Given the description of an element on the screen output the (x, y) to click on. 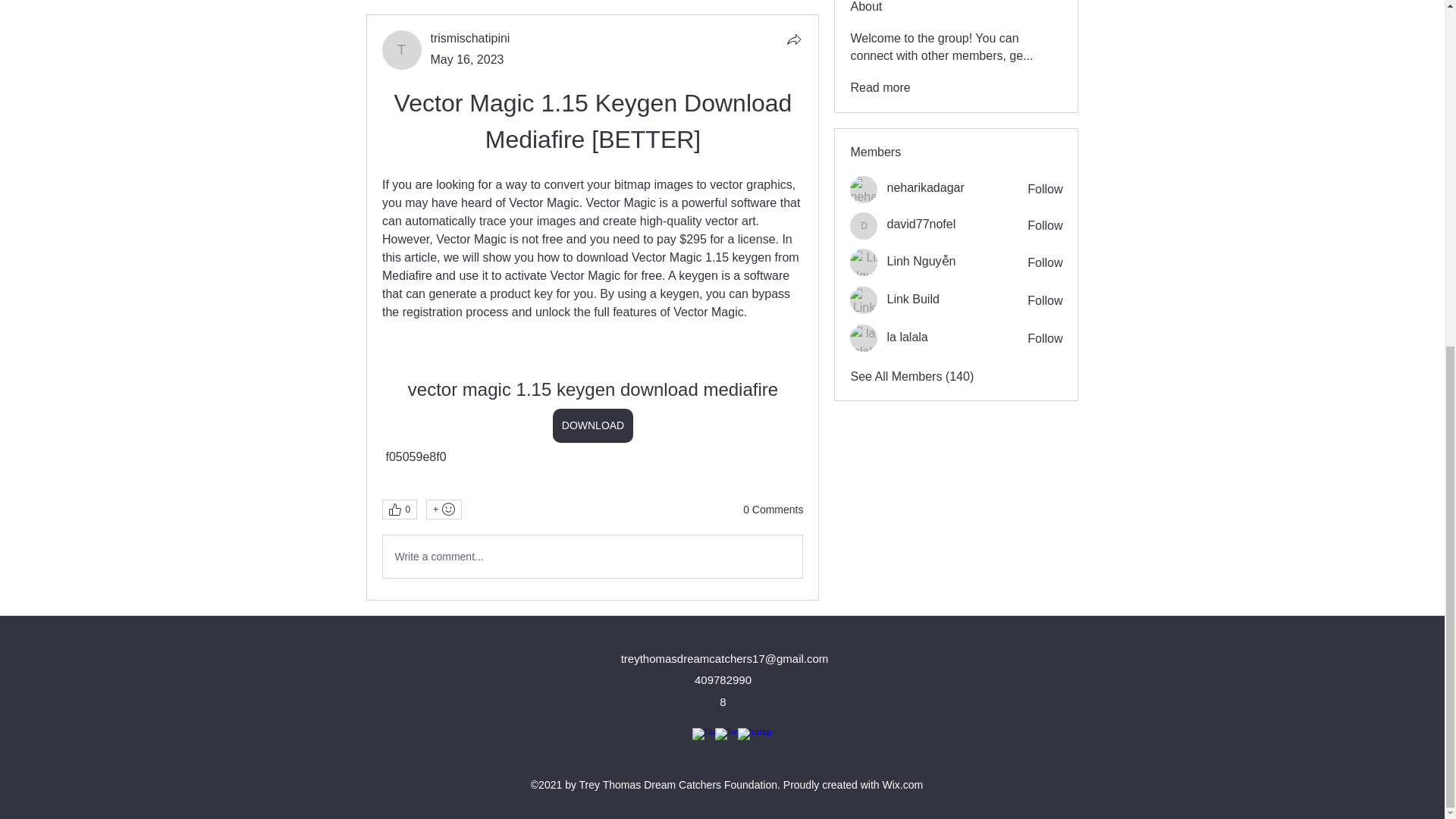
trismischatipini (470, 38)
trismischatipini (470, 38)
Write a comment... (591, 556)
neharikadagar (863, 189)
neharikadagar (924, 187)
la lalala (906, 336)
May 16, 2023 (466, 59)
david77nofel (920, 224)
david77nofel (863, 225)
